Given the description of an element on the screen output the (x, y) to click on. 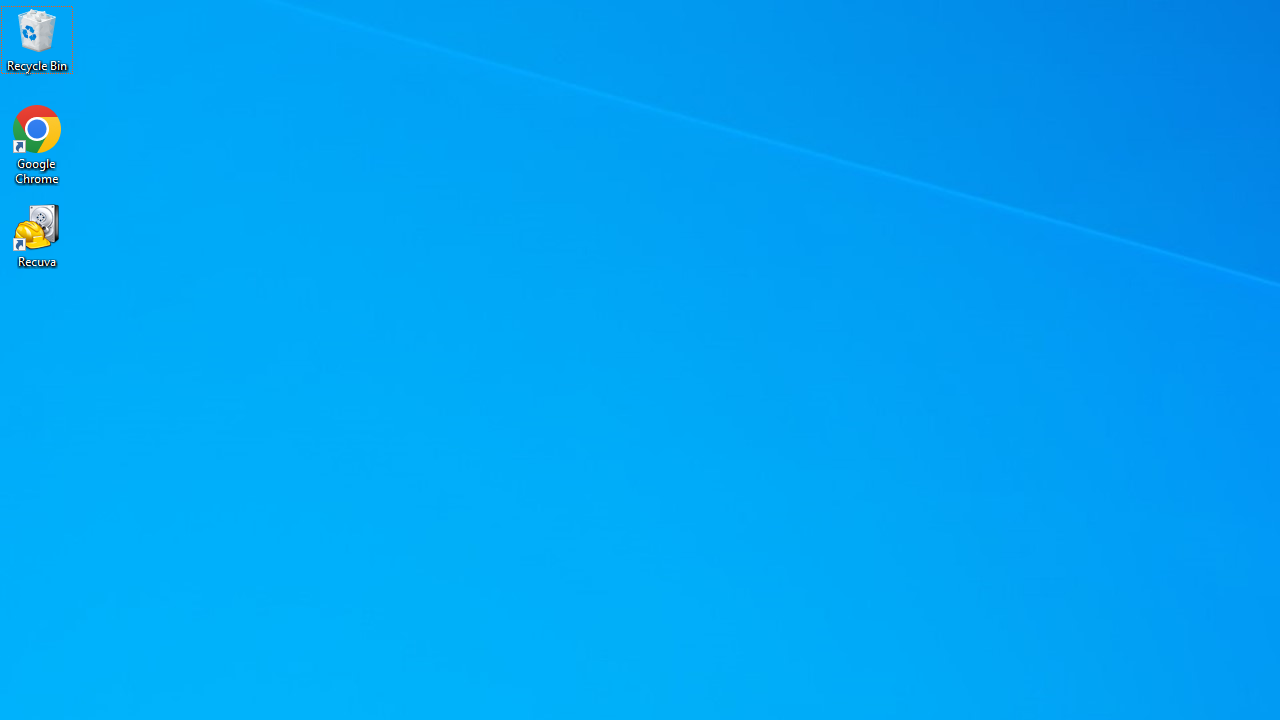
Recuva (37, 235)
Google Chrome (37, 144)
Recycle Bin (37, 39)
